Given the description of an element on the screen output the (x, y) to click on. 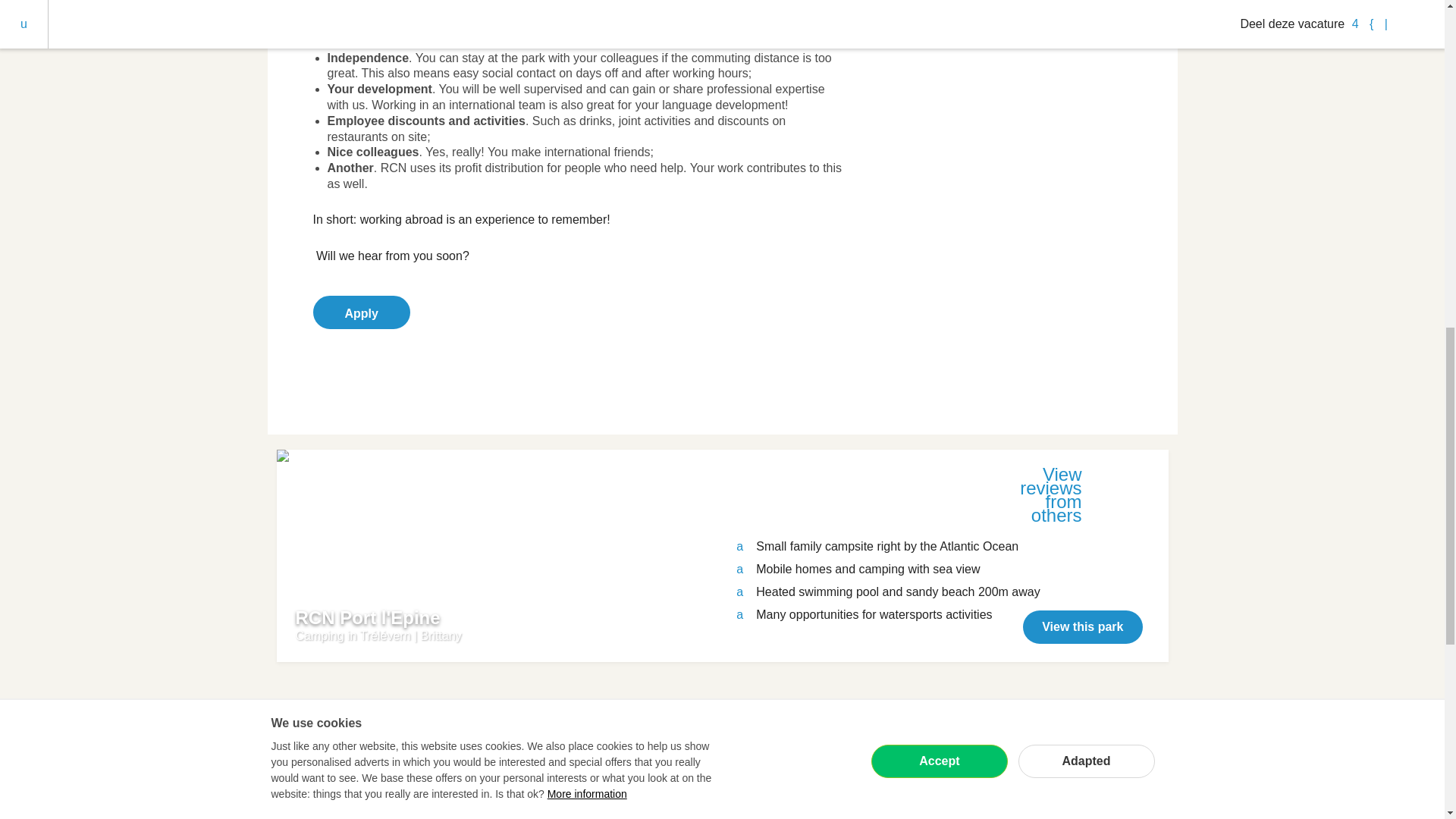
View this park (1082, 626)
9.2 (1117, 491)
Apply (361, 312)
